Given the description of an element on the screen output the (x, y) to click on. 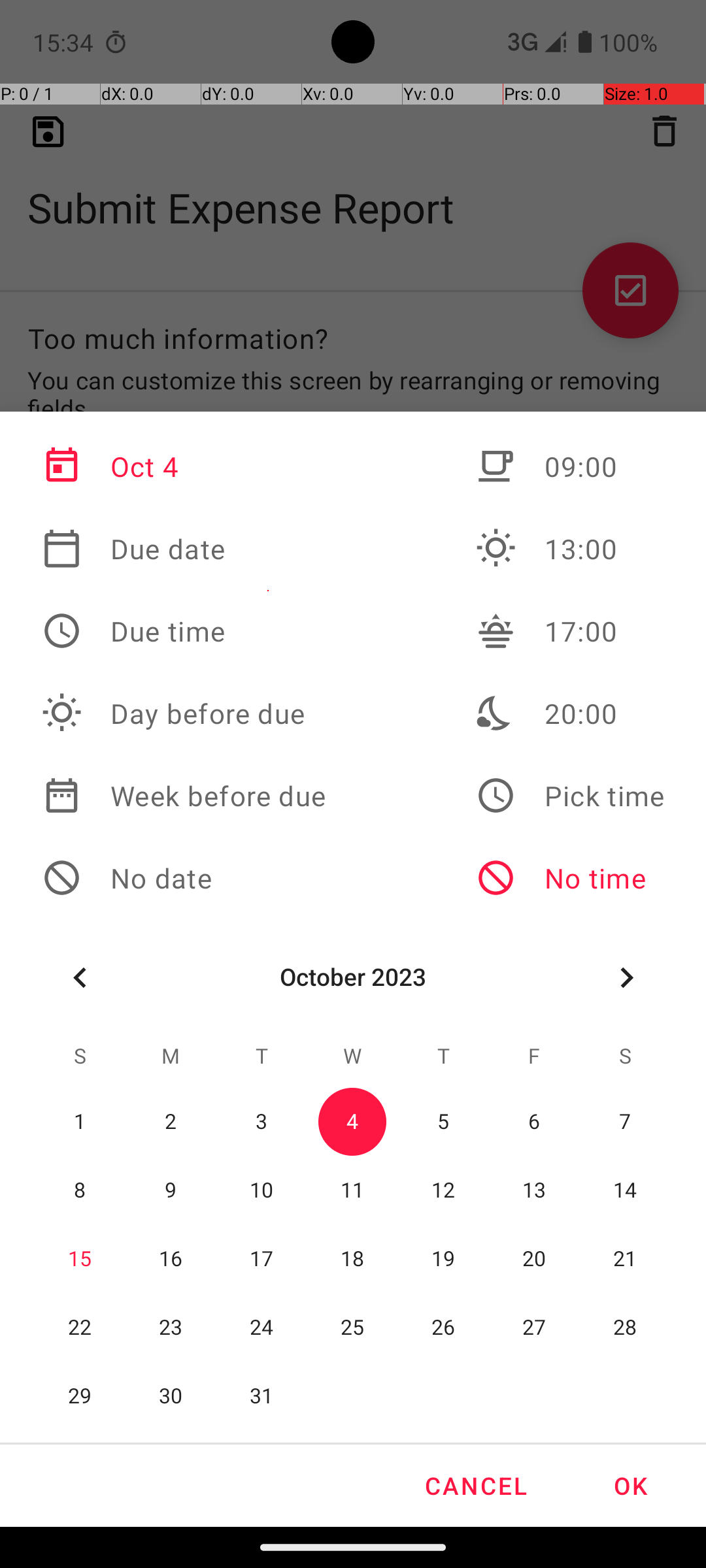
Oct 4 Element type: android.widget.CompoundButton (183, 466)
Due date Element type: android.widget.CompoundButton (183, 548)
Due time Element type: android.widget.CompoundButton (183, 630)
Day before due Element type: android.widget.CompoundButton (183, 713)
Week before due Element type: android.widget.CompoundButton (183, 795)
No date Element type: android.widget.CompoundButton (183, 877)
20:00 Element type: android.widget.CompoundButton (569, 713)
No time Element type: android.widget.CompoundButton (569, 877)
